Given the description of an element on the screen output the (x, y) to click on. 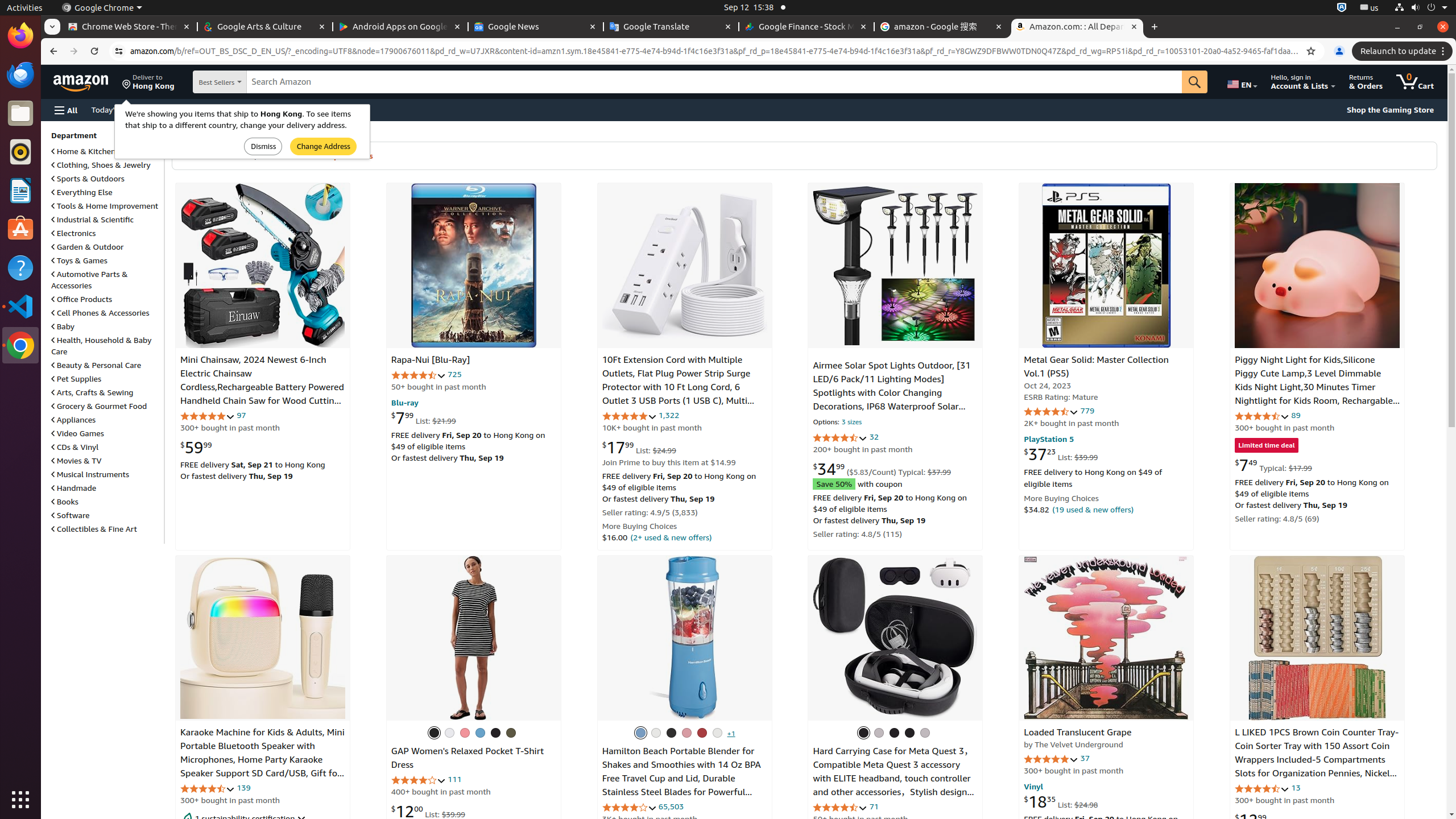
Tranquil Blue Element type: push-button (640, 732)
Firefox Web Browser Element type: push-button (20, 35)
LibreOffice Writer Element type: push-button (20, 190)
Video Games Element type: link (77, 432)
Rapa-Nui [Blu-Ray] Element type: link (473, 265)
